Given the description of an element on the screen output the (x, y) to click on. 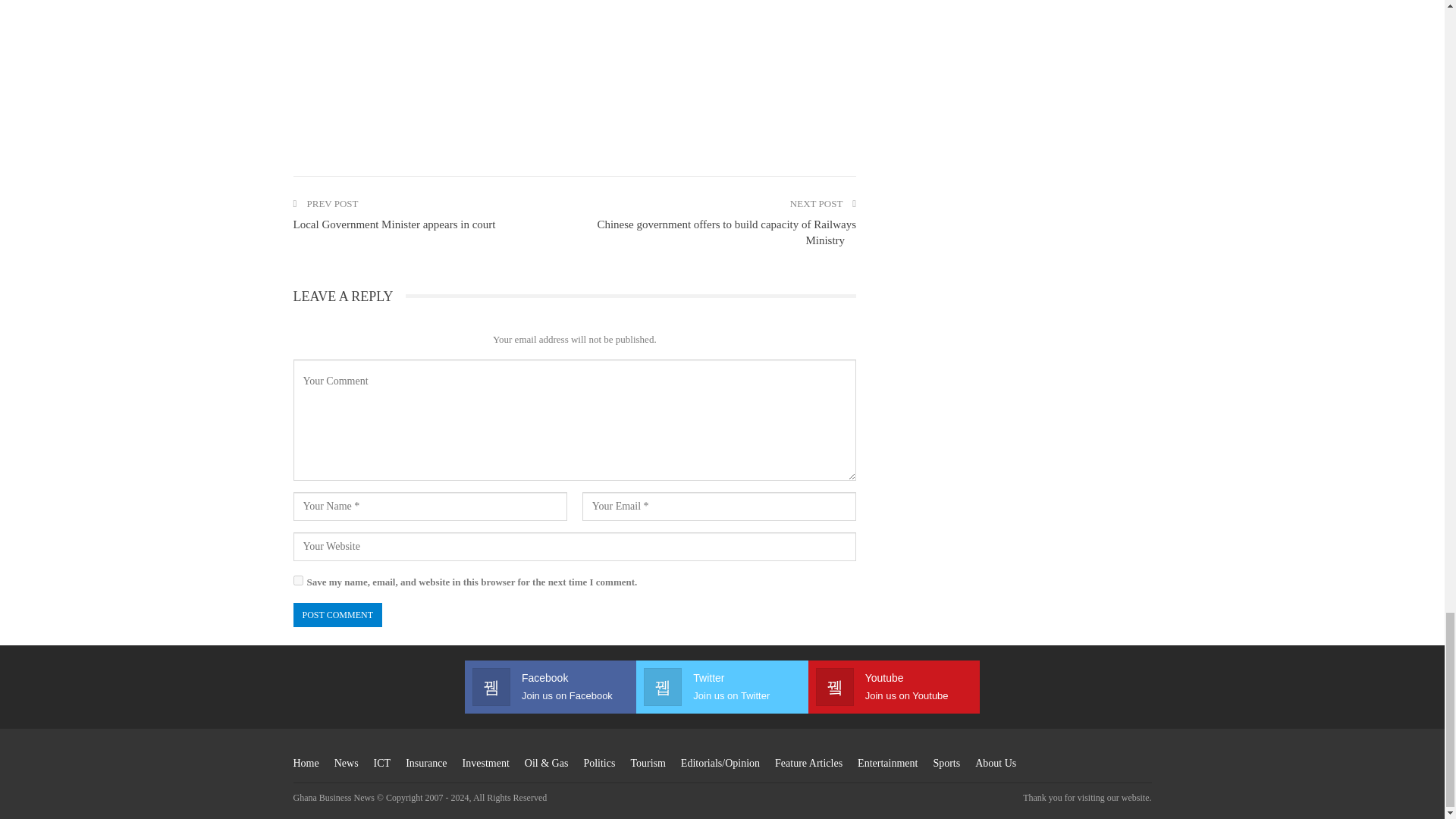
Post Comment (336, 615)
yes (297, 580)
Local Government Minister appears in court (393, 224)
Post Comment (336, 615)
